Given the description of an element on the screen output the (x, y) to click on. 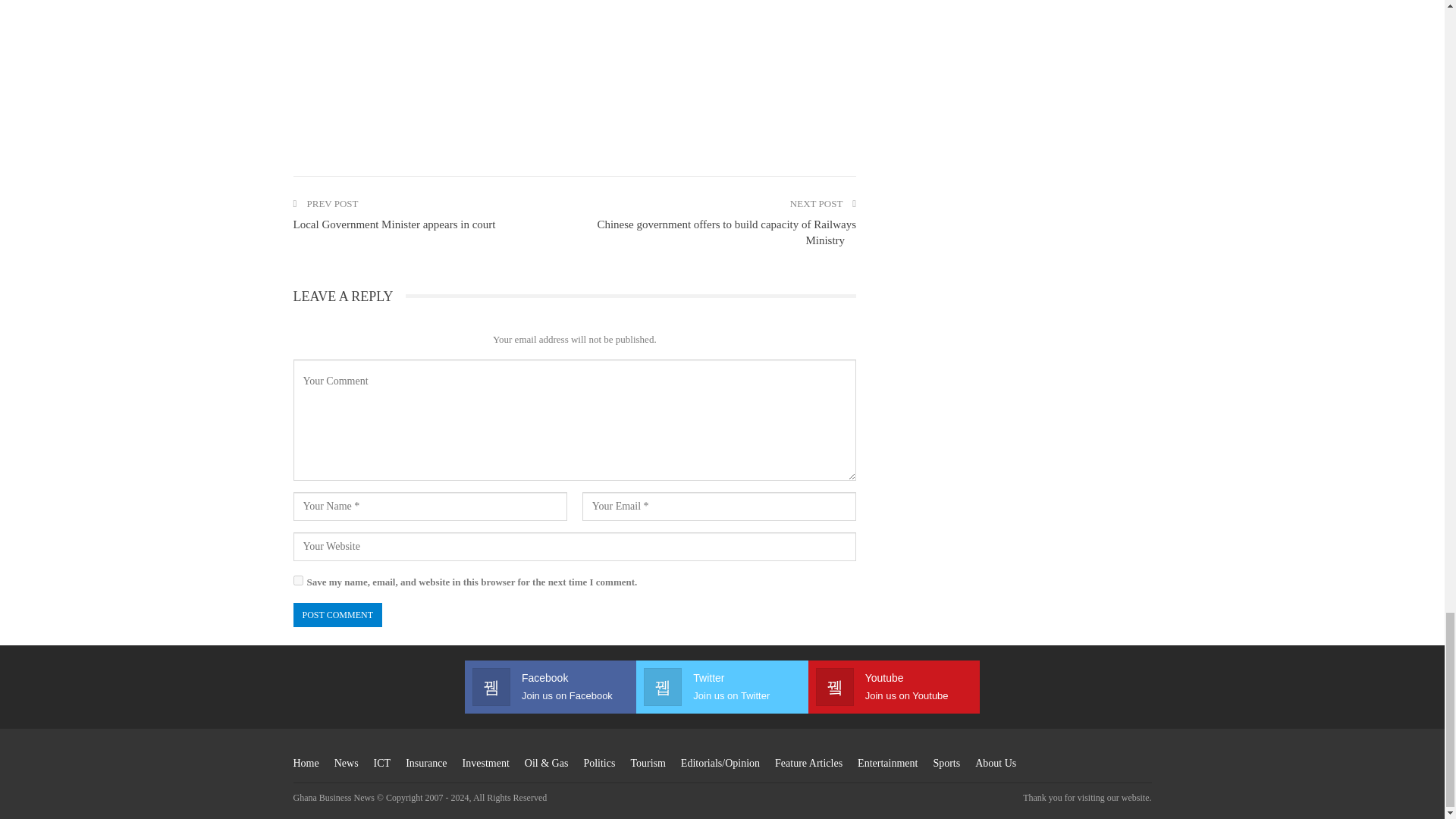
Post Comment (336, 615)
yes (297, 580)
Local Government Minister appears in court (393, 224)
Post Comment (336, 615)
